Given the description of an element on the screen output the (x, y) to click on. 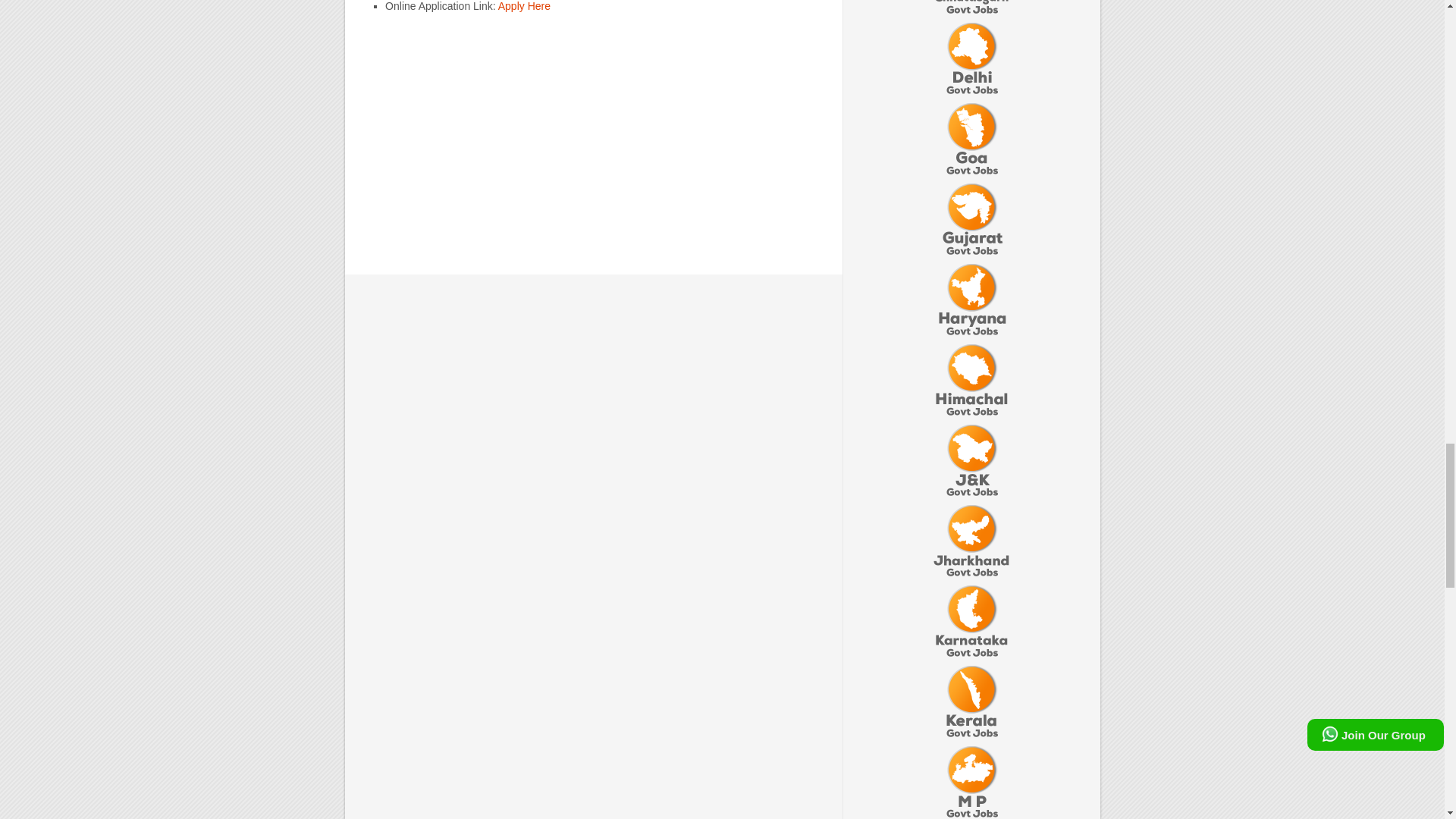
Advertisement (593, 137)
Apply Here (523, 6)
